Given the description of an element on the screen output the (x, y) to click on. 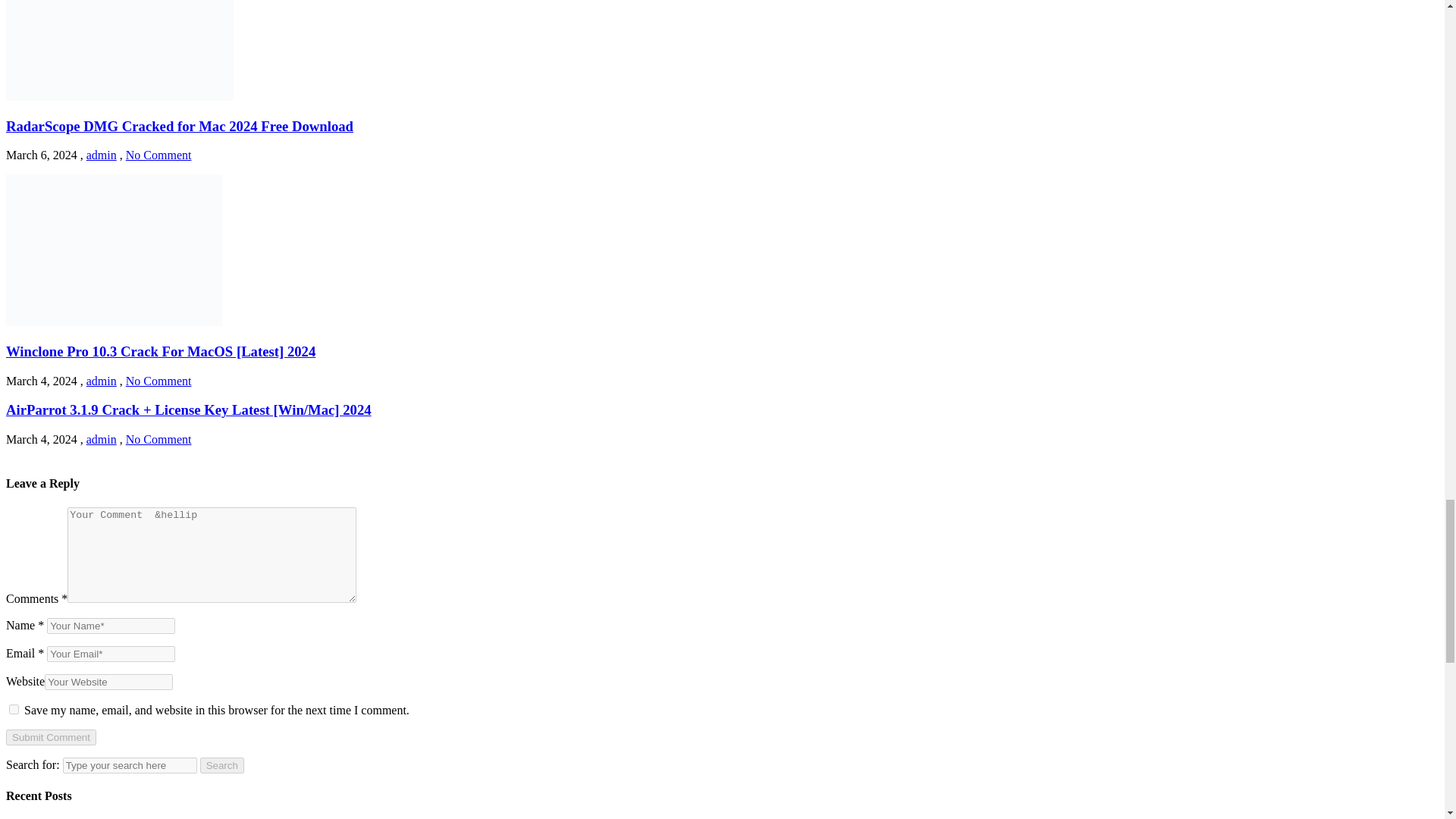
Posts by admin (100, 154)
RadarScope DMG Cracked for Mac 2024 Free Download (118, 96)
Submit Comment (50, 737)
yes (13, 709)
RadarScope DMG Cracked for Mac 2024 Free Download (179, 125)
